Given the description of an element on the screen output the (x, y) to click on. 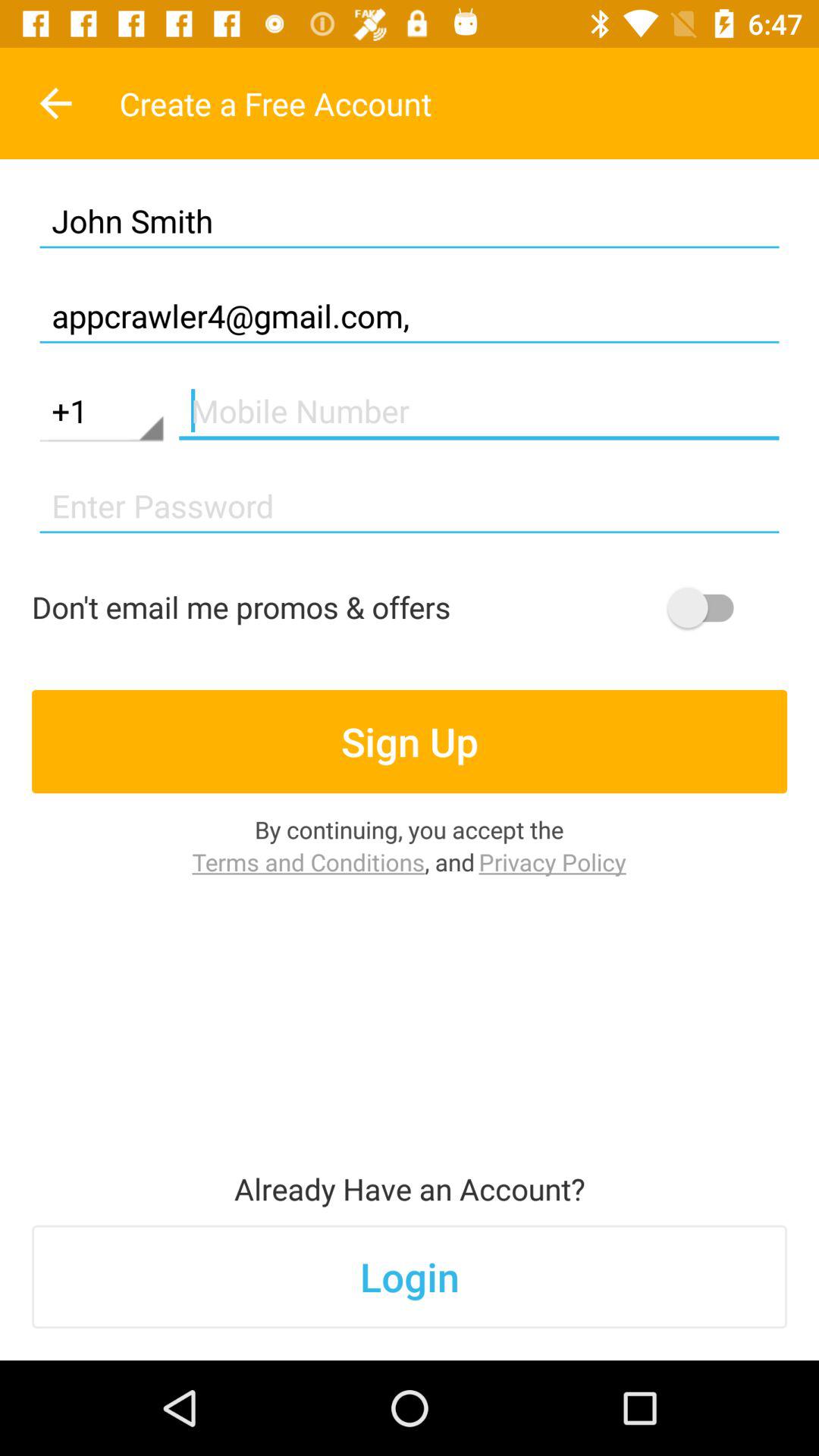
switch email me promos and offers on (708, 607)
